Given the description of an element on the screen output the (x, y) to click on. 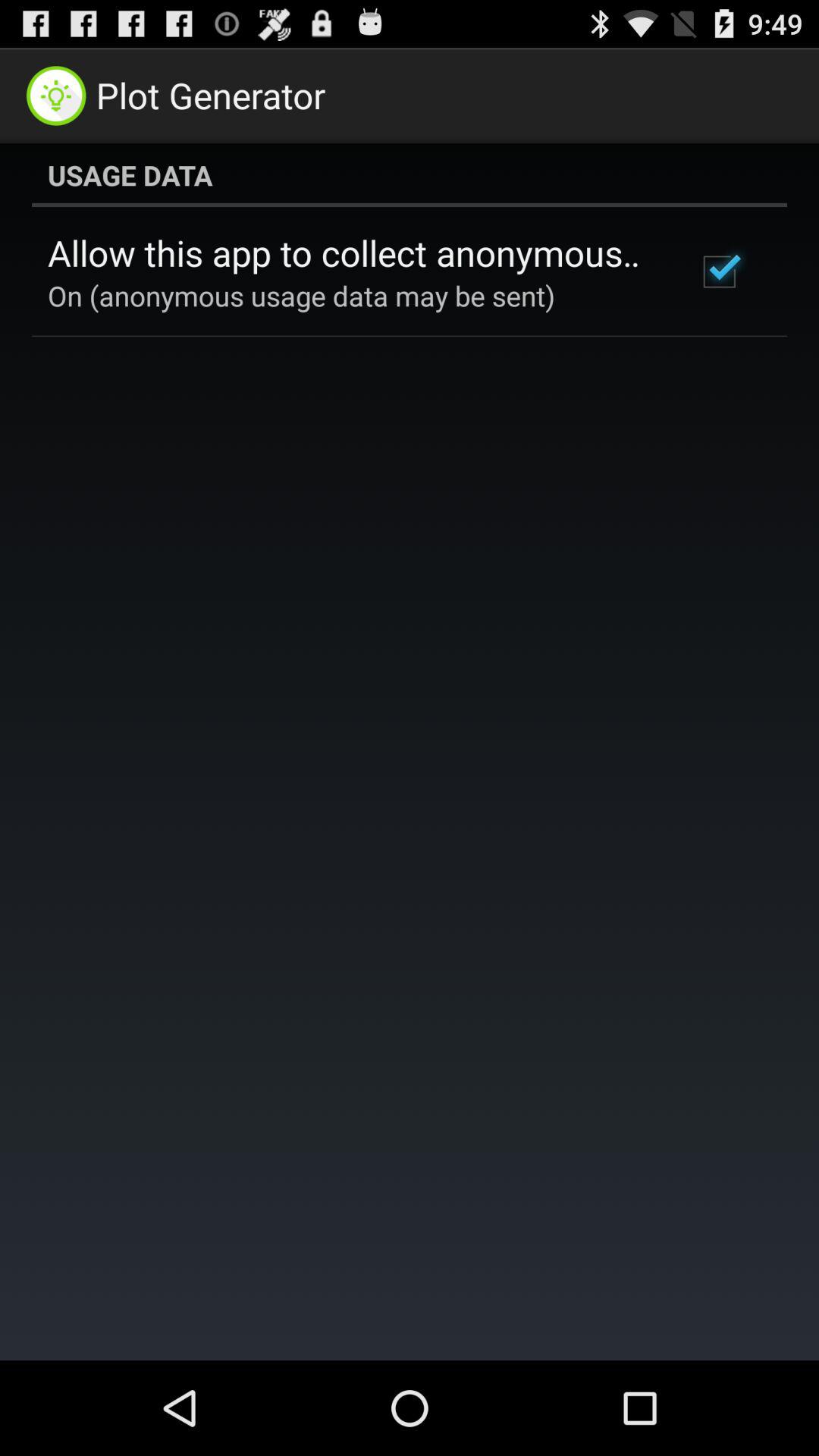
choose allow this app (351, 252)
